Given the description of an element on the screen output the (x, y) to click on. 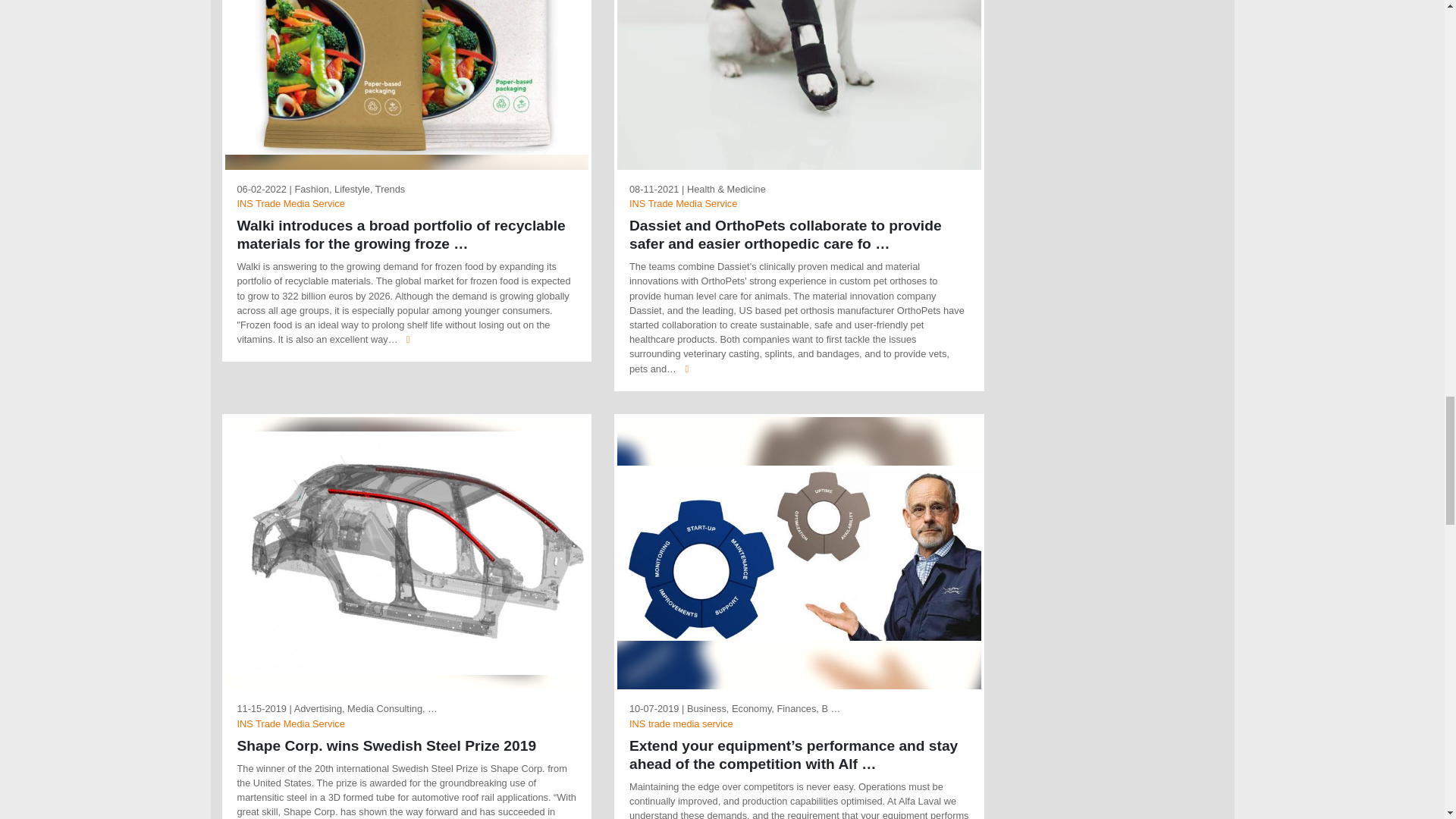
Shape Corp. wins Swedish Steel Prize 2019 (406, 553)
Fashion, Lifestyle, Trends (349, 188)
